Given the description of an element on the screen output the (x, y) to click on. 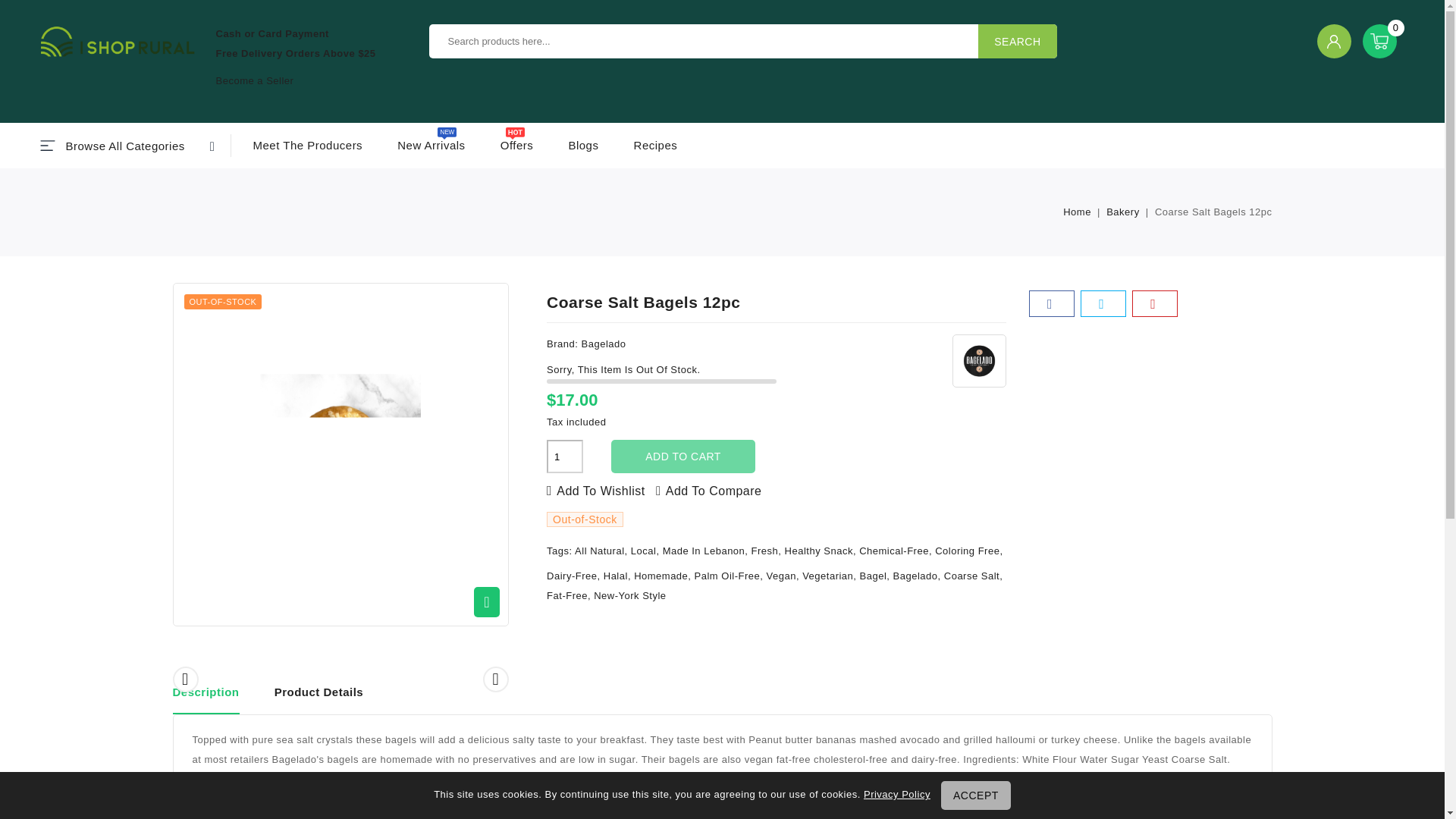
SEARCH (1017, 41)
Pinterest (1154, 303)
Become a Seller (254, 80)
1 (565, 456)
Add to Wishlist (596, 491)
Tweet (1103, 303)
Add to Compare (708, 491)
1 (340, 454)
Share (1051, 303)
